Given the description of an element on the screen output the (x, y) to click on. 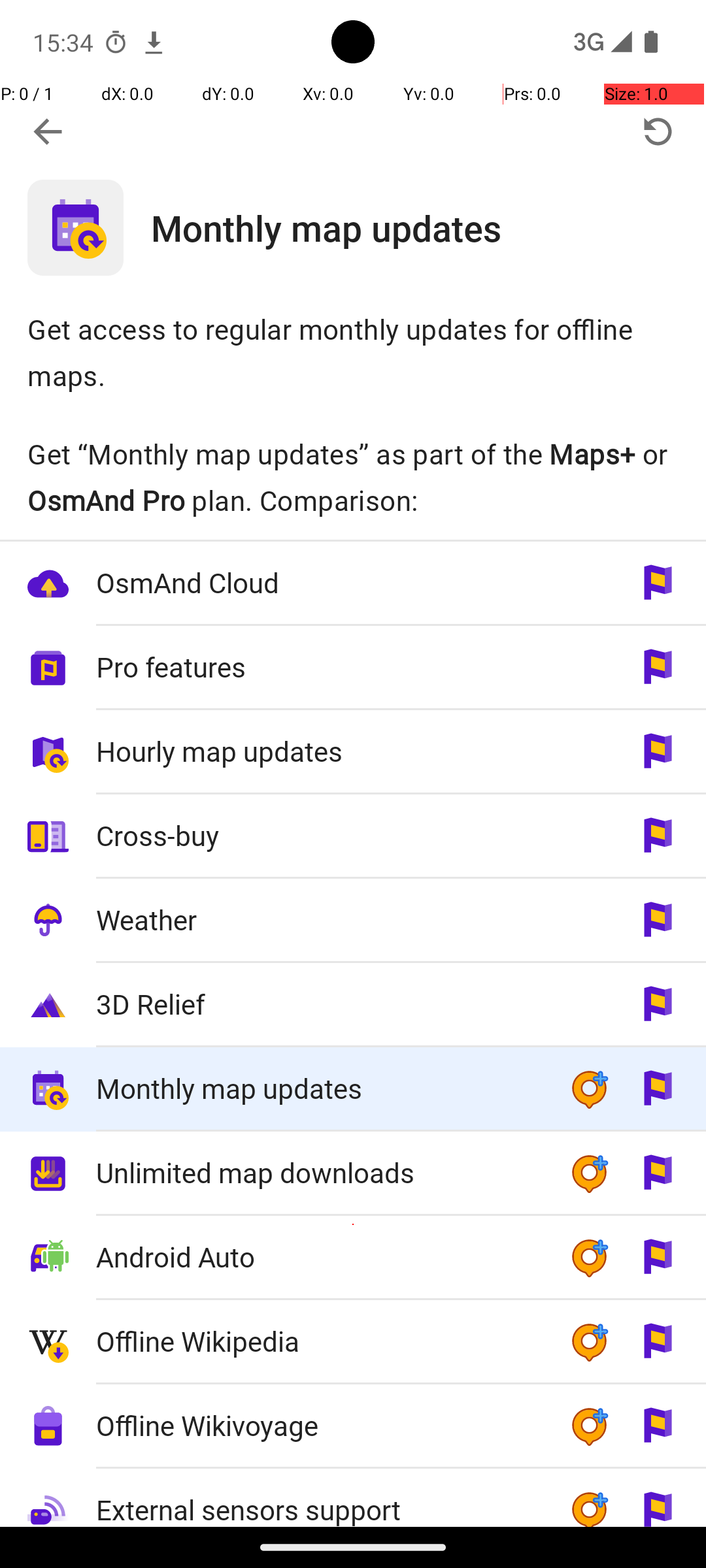
Monthly map updates Element type: android.widget.TextView (428, 227)
Restore purchases Element type: android.widget.ImageButton (657, 131)
Get access to regular monthly updates for offline maps. Element type: android.widget.TextView (353, 351)
Get “Monthly map updates” as part of the Maps+ or OsmAnd Pro plan. Comparison: Element type: android.widget.TextView (353, 476)
OsmAnd Cloud available as part of the OsmAnd Pro plan Element type: android.widget.LinearLayout (353, 583)
Pro features available as part of the OsmAnd Pro plan Element type: android.widget.LinearLayout (353, 667)
Hourly map updates available as part of the OsmAnd Pro plan Element type: android.widget.LinearLayout (353, 752)
Cross-buy available as part of the OsmAnd Pro plan Element type: android.widget.LinearLayout (353, 836)
Weather available as part of the OsmAnd Pro plan Element type: android.widget.LinearLayout (353, 920)
3D Relief available as part of the OsmAnd Pro plan Element type: android.widget.LinearLayout (353, 1005)
Monthly map updates available as part of the OsmAnd+ or OsmAnd Pro plan Element type: android.widget.LinearLayout (353, 1089)
Unlimited map downloads available as part of the OsmAnd+ or OsmAnd Pro plan Element type: android.widget.LinearLayout (353, 1173)
Android Auto available as part of the OsmAnd+ or OsmAnd Pro plan Element type: android.widget.LinearLayout (353, 1257)
Offline Wikipedia available as part of the OsmAnd+ or OsmAnd Pro plan Element type: android.widget.LinearLayout (353, 1342)
Offline Wikivoyage available as part of the OsmAnd+ or OsmAnd Pro plan Element type: android.widget.LinearLayout (353, 1426)
External sensors support available as part of the OsmAnd+ or OsmAnd Pro plan Element type: android.widget.LinearLayout (353, 1497)
OsmAnd Cloud Element type: android.widget.TextView (318, 581)
Pro features Element type: android.widget.TextView (318, 666)
Hourly map updates Element type: android.widget.TextView (318, 750)
Cross-buy Element type: android.widget.TextView (318, 834)
Weather Element type: android.widget.TextView (318, 919)
3D Relief Element type: android.widget.TextView (318, 1003)
Unlimited map downloads Element type: android.widget.TextView (318, 1171)
Offline Wikipedia Element type: android.widget.TextView (318, 1340)
Offline Wikivoyage Element type: android.widget.TextView (318, 1424)
External sensors support Element type: android.widget.TextView (318, 1498)
